Given the description of an element on the screen output the (x, y) to click on. 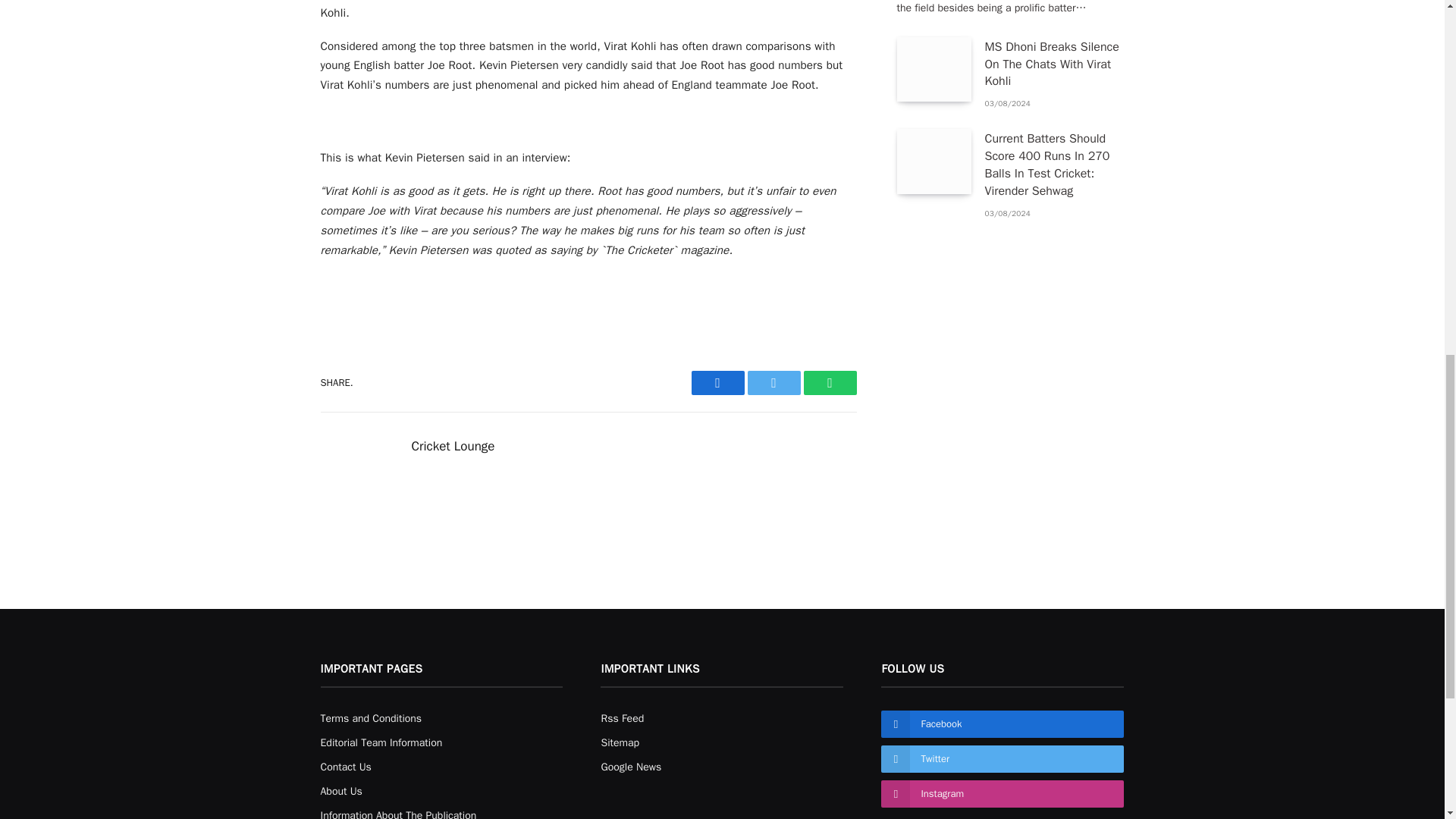
WhatsApp (830, 382)
Posts by Cricket Lounge (452, 446)
Facebook (717, 382)
Cricket Lounge (452, 446)
Twitter (774, 382)
Share on Facebook (717, 382)
Share on WhatsApp (830, 382)
